Given the description of an element on the screen output the (x, y) to click on. 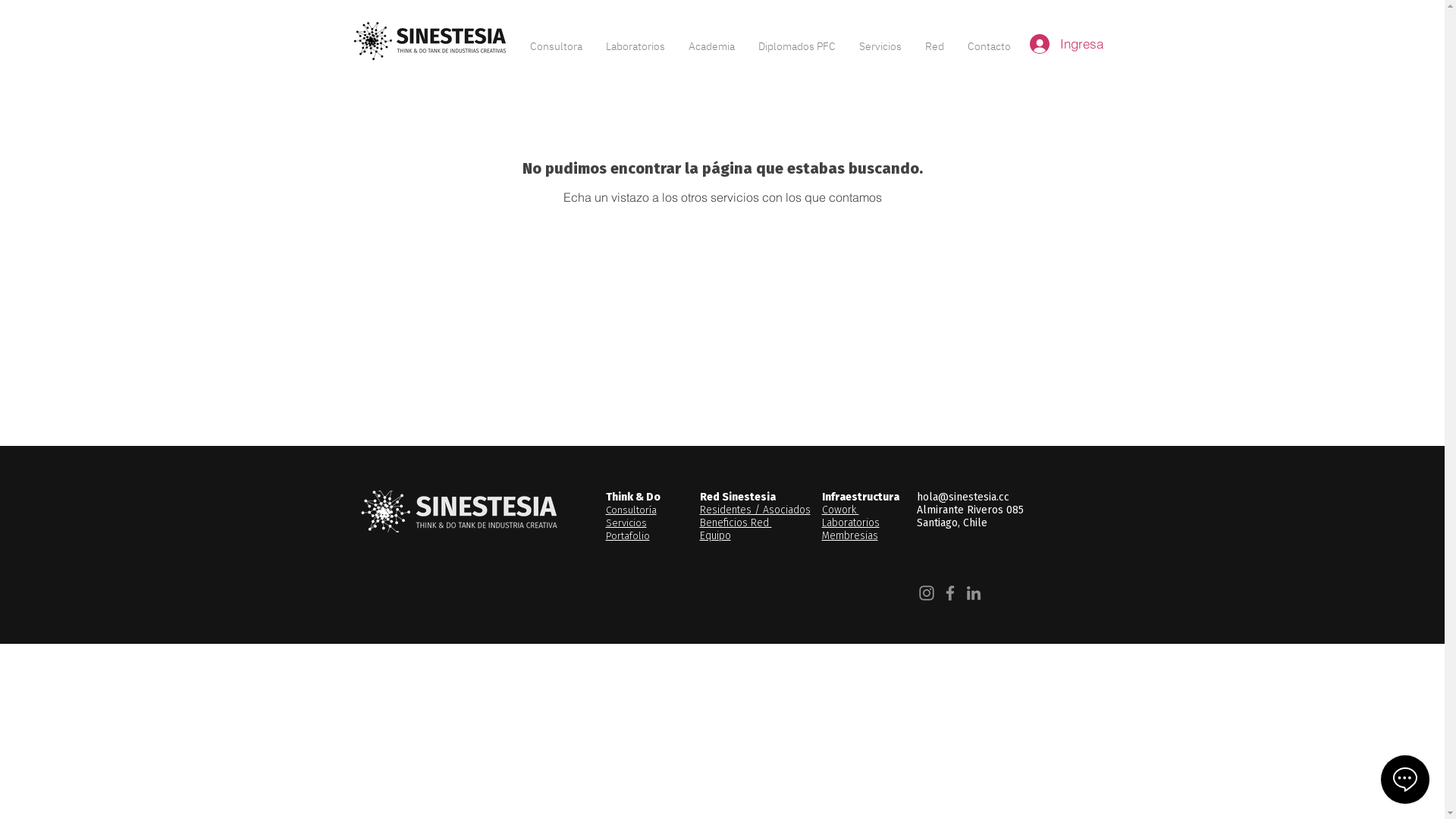
Consultora Element type: text (556, 39)
Servicios Element type: text (625, 522)
Servicios Element type: text (880, 39)
Ingresa Element type: text (1042, 43)
Beneficios Red  Element type: text (735, 522)
Portafolio Element type: text (627, 535)
Laboratorios Element type: text (850, 522)
Membresias Element type: text (850, 535)
Equipo Element type: text (714, 535)
Academia Element type: text (711, 39)
Cowork  Element type: text (840, 509)
Residentes / Asociados Element type: text (754, 509)
hola@sinestesia.cc Element type: text (962, 496)
Red Element type: text (934, 39)
Diplomados PFC Element type: text (796, 39)
Laboratorios Element type: text (635, 39)
Contacto Element type: text (988, 39)
